Given the description of an element on the screen output the (x, y) to click on. 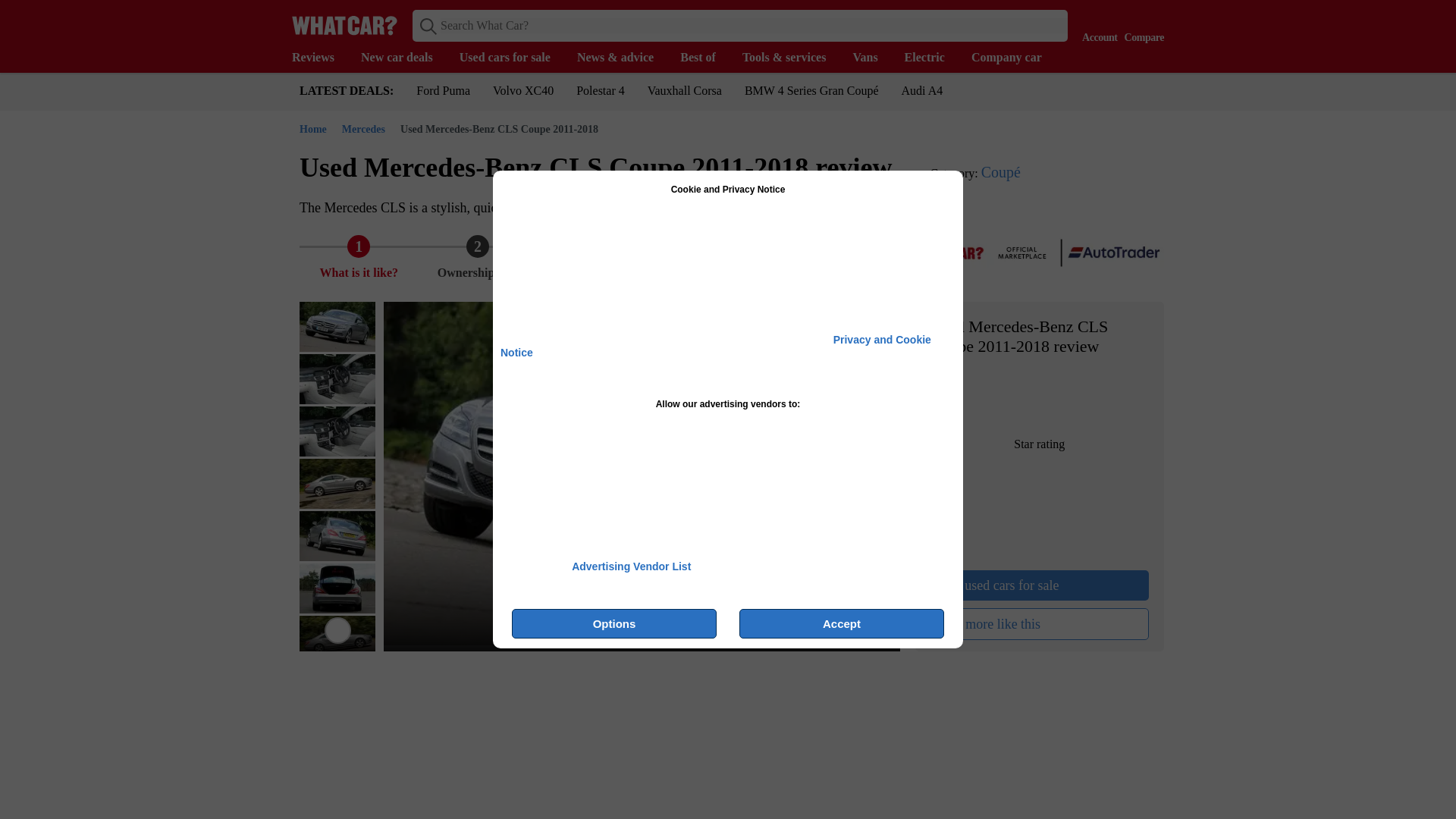
New car deals (404, 57)
WhatCar? logo (344, 25)
Vans (871, 57)
Account (1095, 24)
Used cars for sale (513, 57)
Reviews (320, 57)
Best of (704, 57)
Compare (1140, 24)
Company car (1014, 57)
Electric (931, 57)
